Given the description of an element on the screen output the (x, y) to click on. 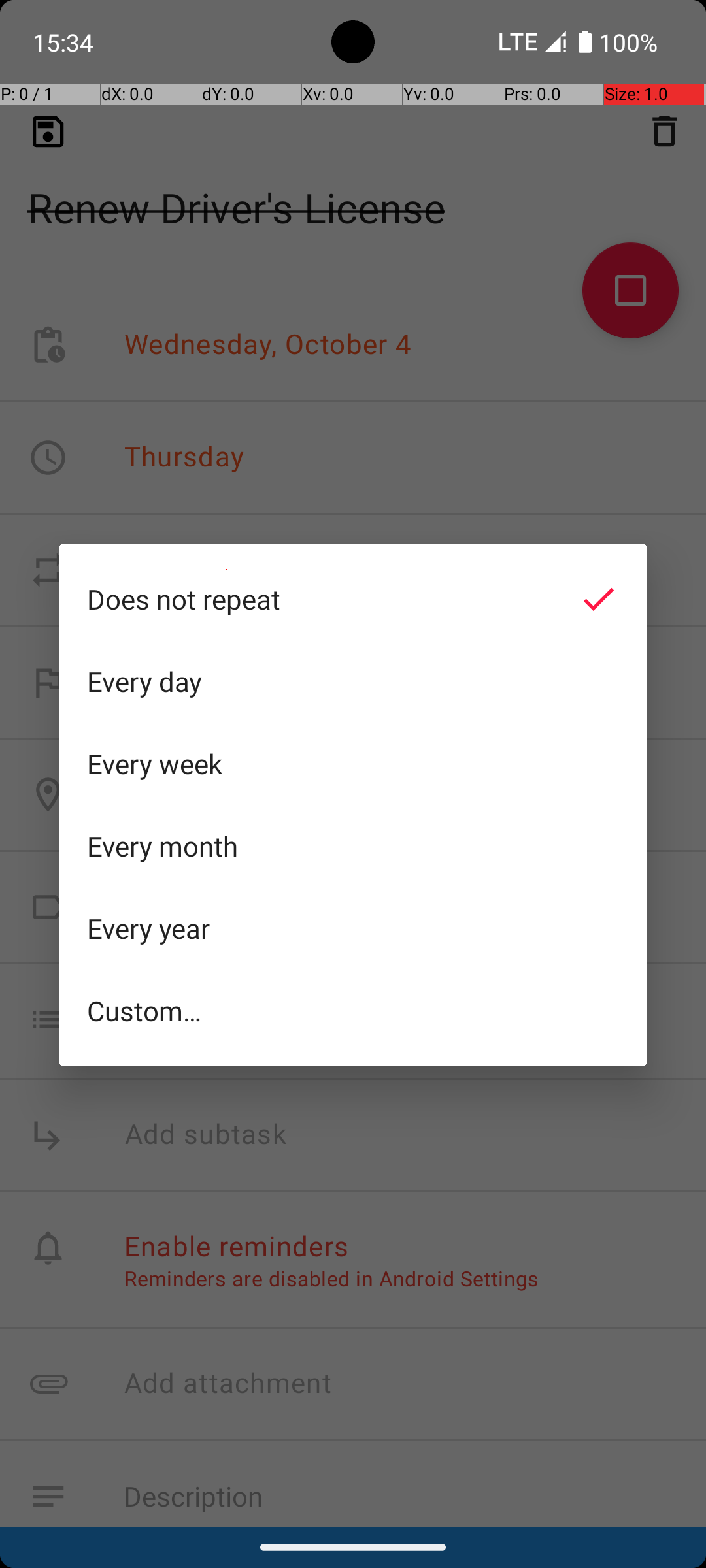
Every day Element type: android.widget.CheckedTextView (352, 681)
Every week Element type: android.widget.CheckedTextView (352, 763)
Every month Element type: android.widget.CheckedTextView (352, 845)
Every year Element type: android.widget.CheckedTextView (352, 928)
Custom… Element type: android.widget.CheckedTextView (352, 1010)
